Given the description of an element on the screen output the (x, y) to click on. 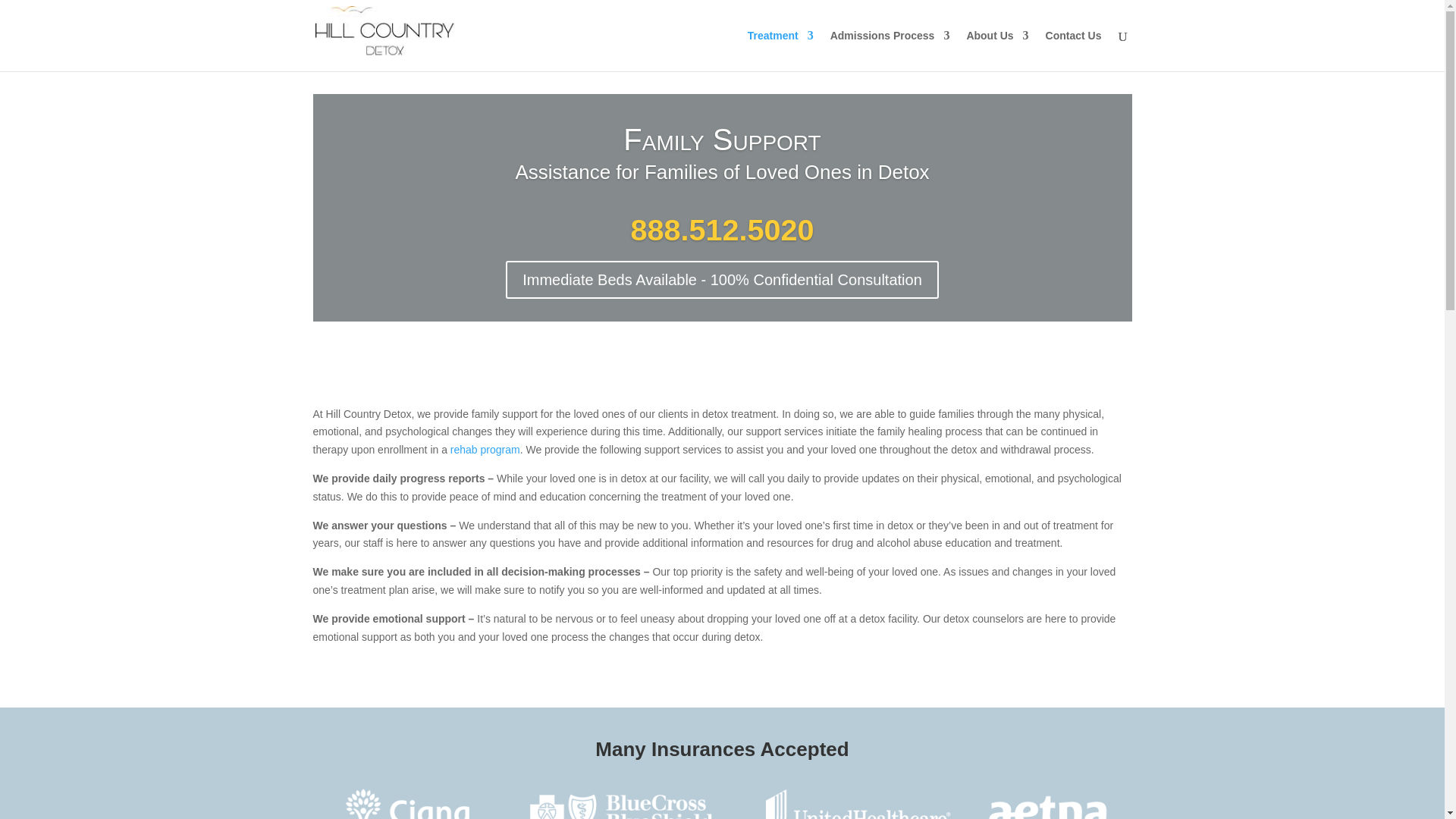
Admissions Process (889, 50)
About Us (996, 50)
rehab program (484, 449)
Contact Us (1073, 50)
Treatment (780, 50)
